Given the description of an element on the screen output the (x, y) to click on. 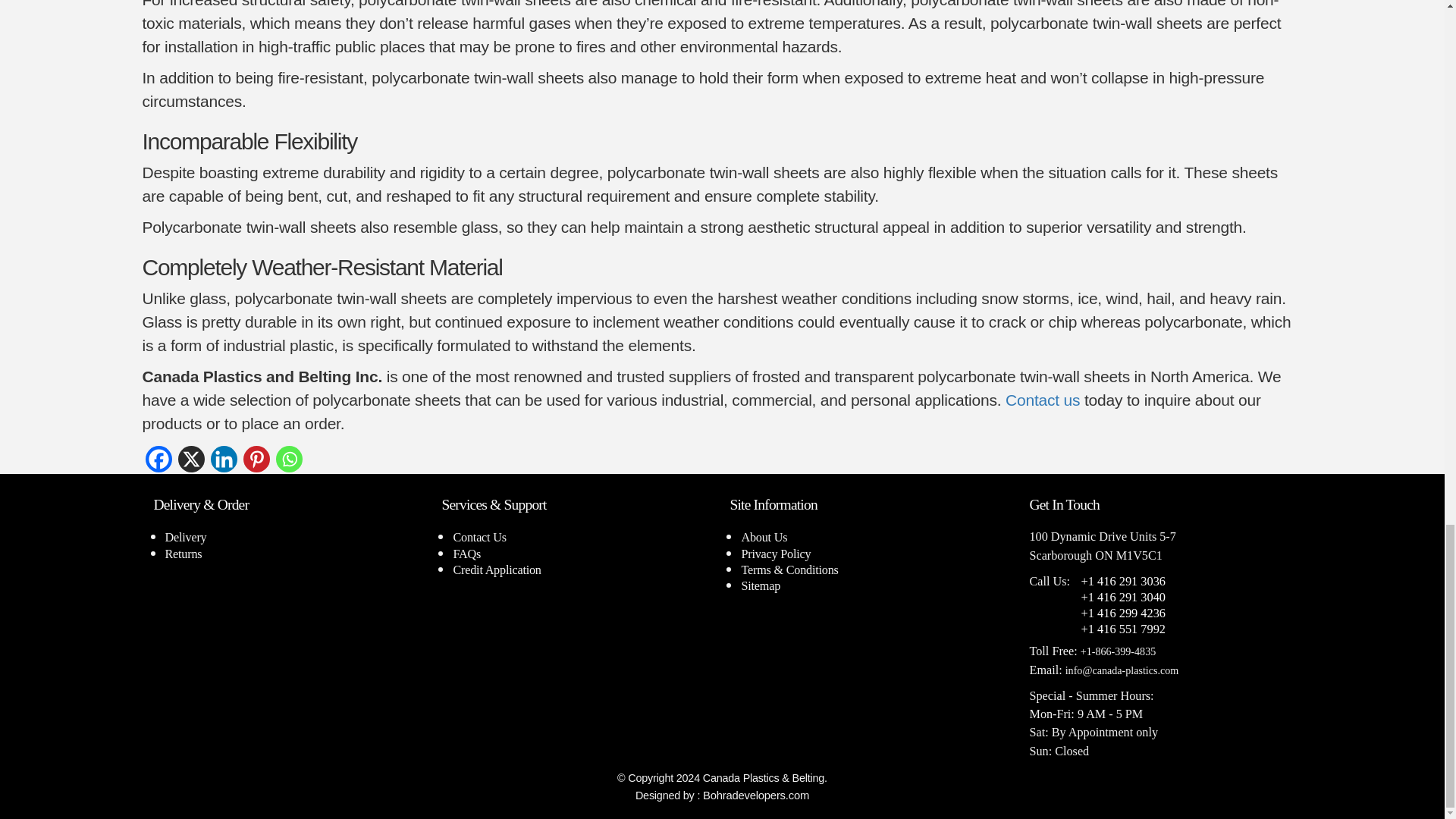
Linkedin (224, 458)
Pinterest (256, 458)
Facebook (158, 458)
Whatsapp (289, 458)
X (190, 458)
